Given the description of an element on the screen output the (x, y) to click on. 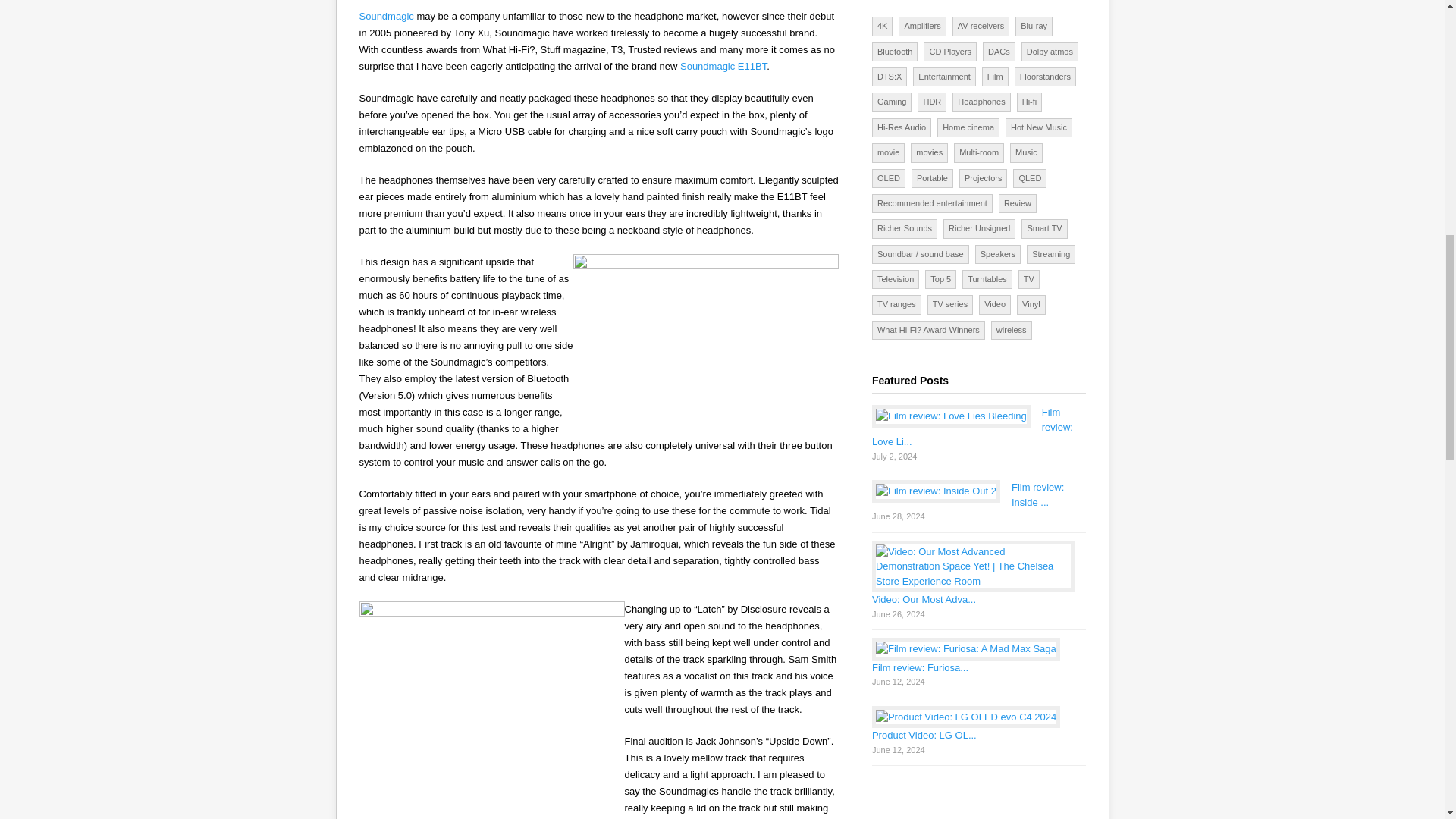
Soundmagic E11BT (723, 66)
Soundmagic (386, 16)
